Given the description of an element on the screen output the (x, y) to click on. 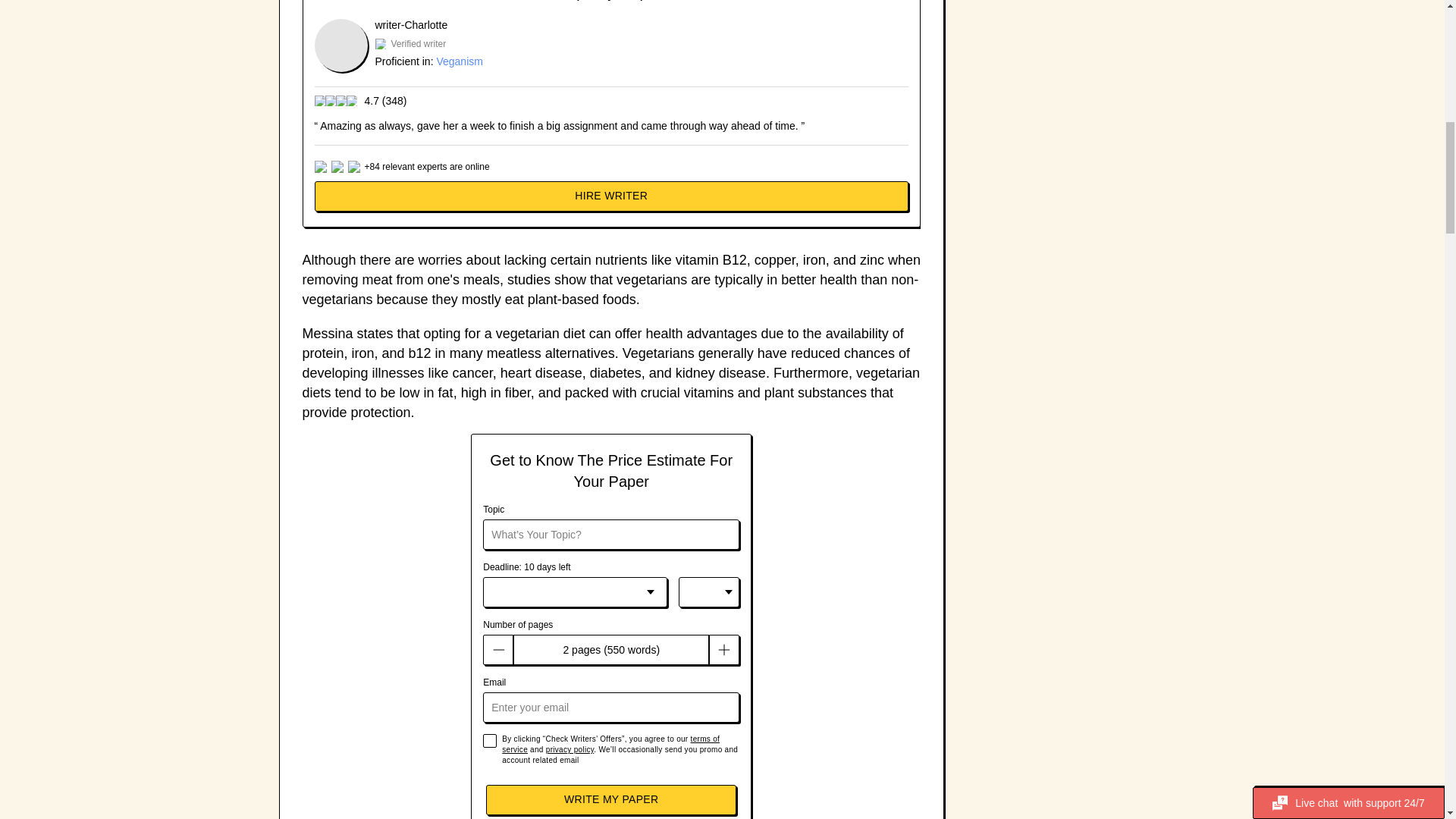
WRITE MY PAPER (611, 799)
privacy policy (570, 749)
HIRE WRITER (611, 195)
terms of service (610, 743)
Veganism (458, 61)
